Given the description of an element on the screen output the (x, y) to click on. 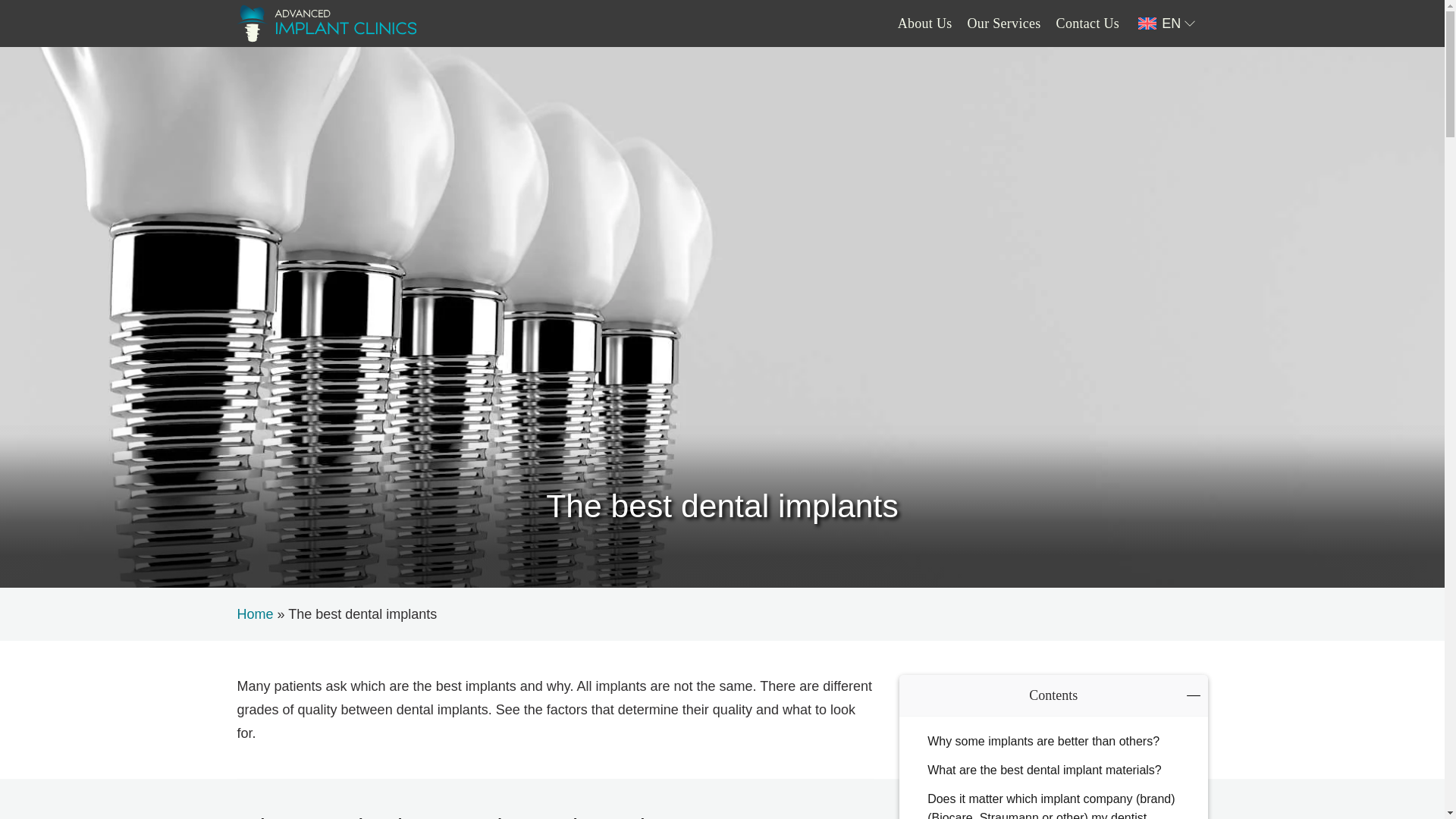
Our Services (1004, 23)
About Us (925, 23)
Contact Us (1088, 23)
EN (1169, 23)
Home (254, 613)
Why some implants are better than others? (1053, 741)
What are the best dental implant materials? (1053, 770)
